Given the description of an element on the screen output the (x, y) to click on. 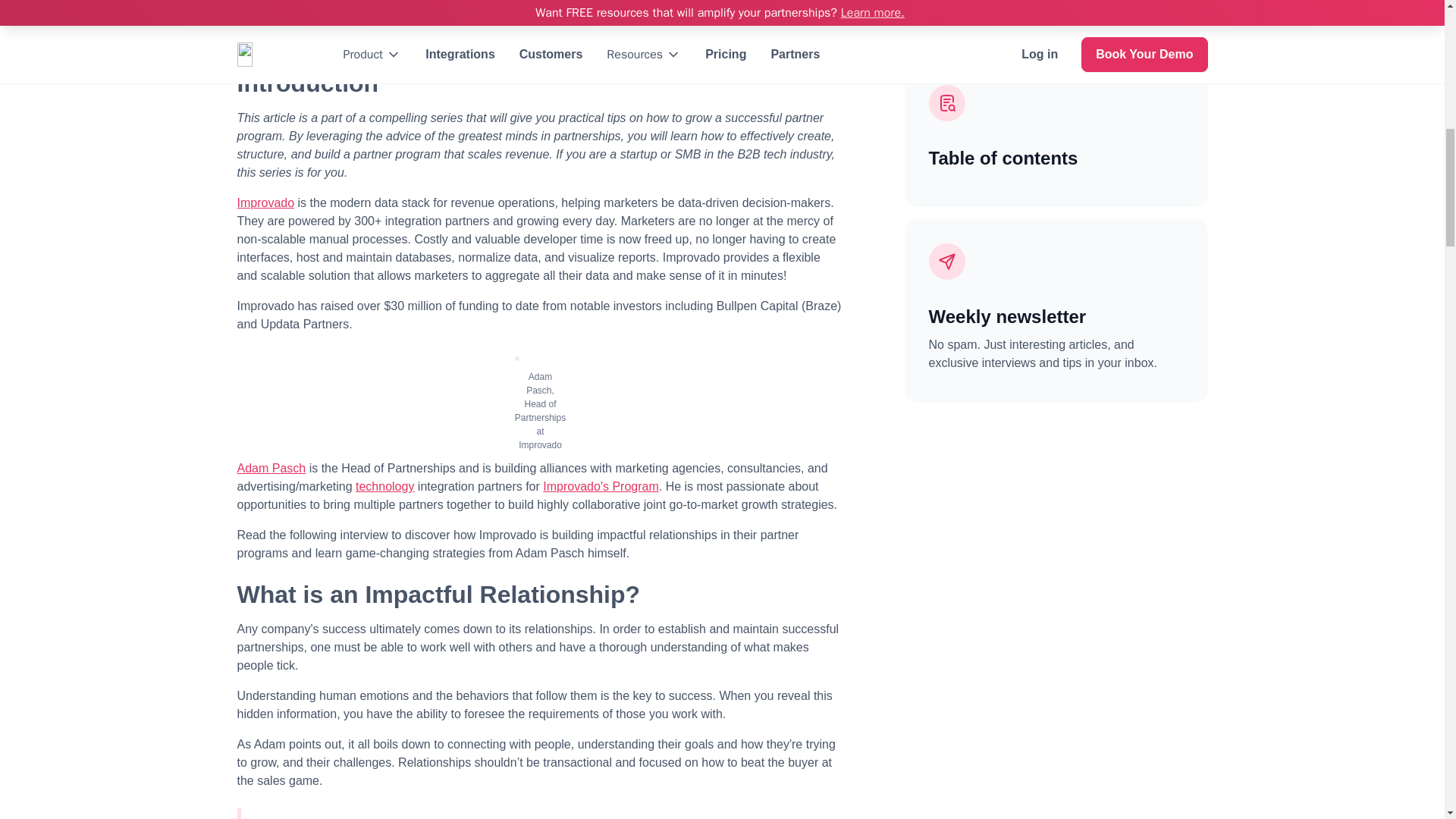
Improvado's Program (600, 486)
technology (384, 486)
Improvado (264, 202)
Adam Pasch (270, 468)
